Given the description of an element on the screen output the (x, y) to click on. 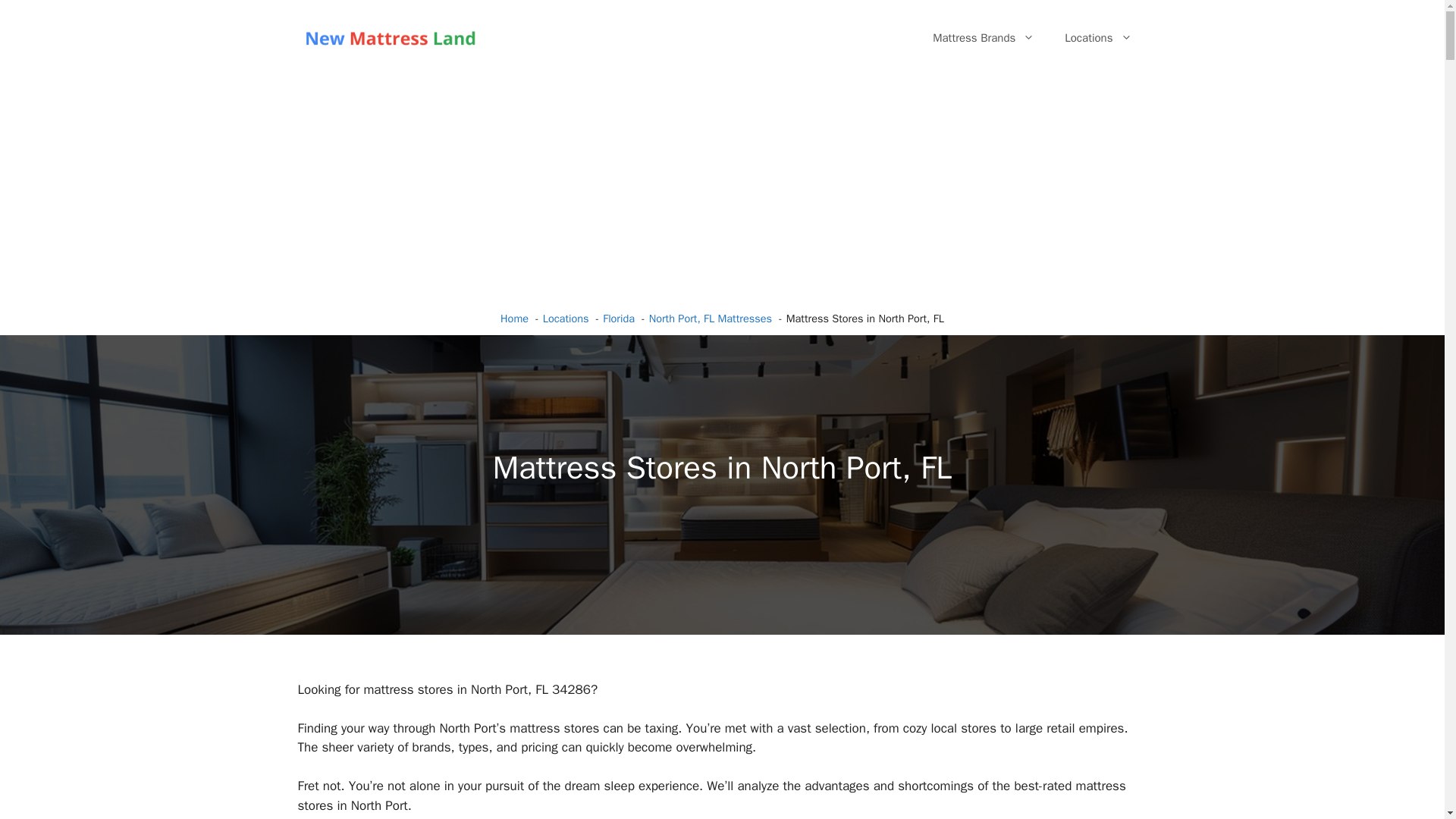
Locations (566, 318)
Locations (1098, 37)
Mattress Brands (983, 37)
Florida (618, 318)
North Port, FL Mattresses (710, 318)
Home (514, 318)
